Given the description of an element on the screen output the (x, y) to click on. 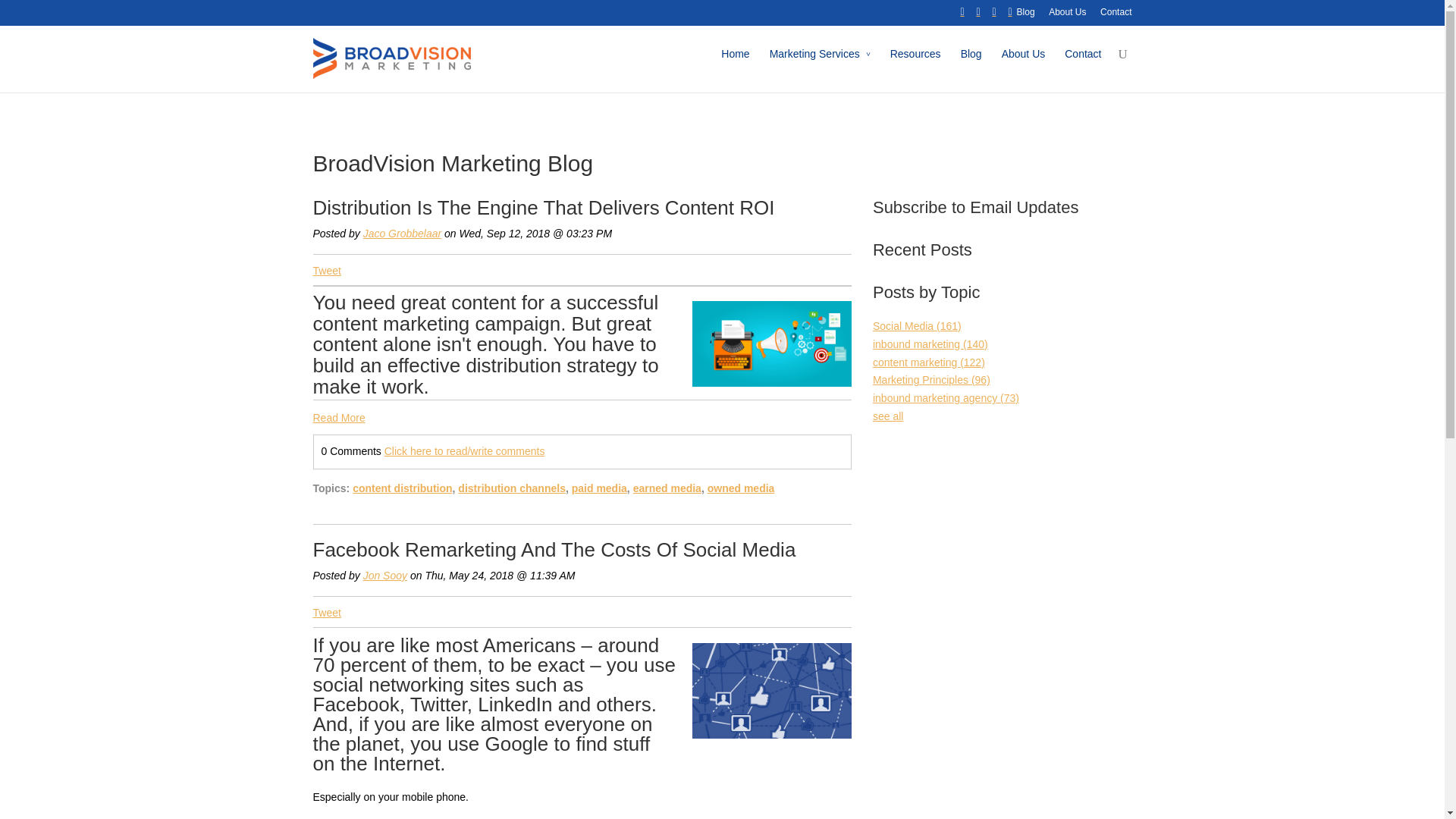
Blog (1025, 16)
Tweet (326, 270)
About Us (1023, 65)
Jaco Grobbelaar (402, 233)
Contact (1115, 16)
About Us (1067, 16)
Marketing Services (820, 65)
Contact (1082, 65)
Distribution Is The Engine That Delivers Content ROI (543, 207)
Resources (914, 65)
